Given the description of an element on the screen output the (x, y) to click on. 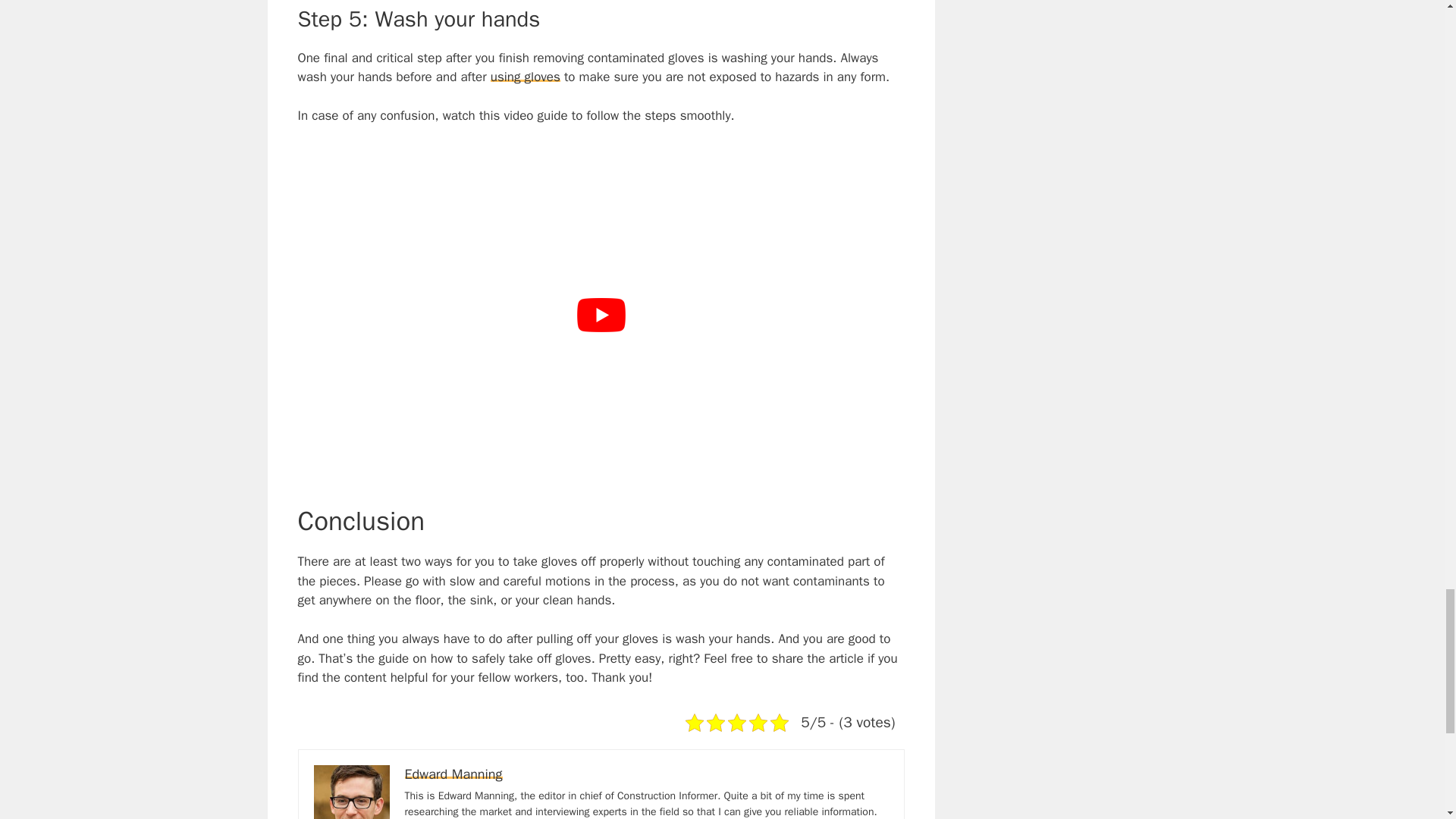
Edward Manning (453, 773)
using gloves (525, 76)
